Given the description of an element on the screen output the (x, y) to click on. 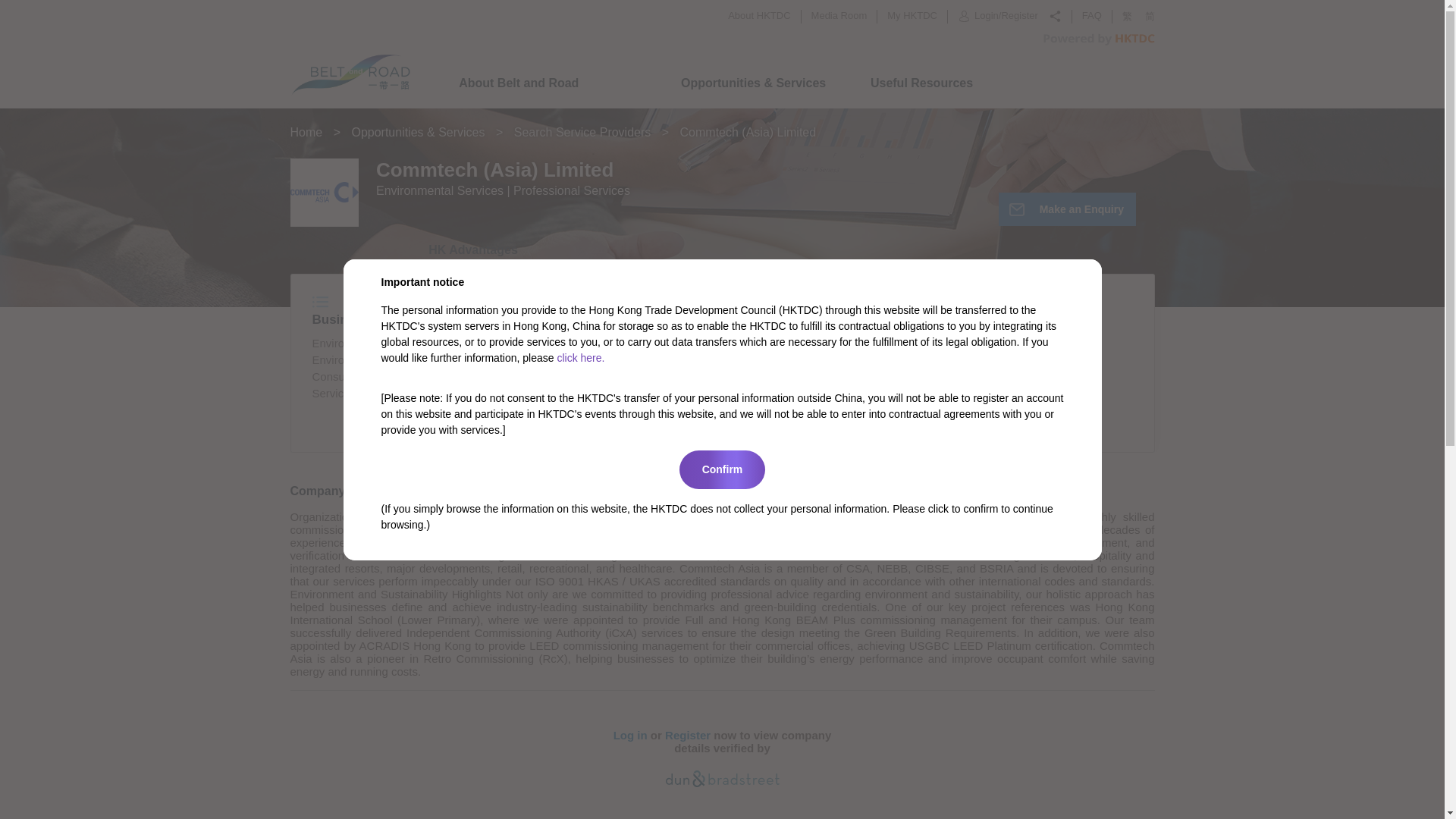
Useful Resources (921, 83)
About HKTDC (759, 15)
Register (1018, 16)
Login (986, 16)
My HKTDC (911, 15)
About Belt and Road (518, 83)
FAQ (1091, 15)
Share (1054, 15)
Media Room (838, 15)
